Given the description of an element on the screen output the (x, y) to click on. 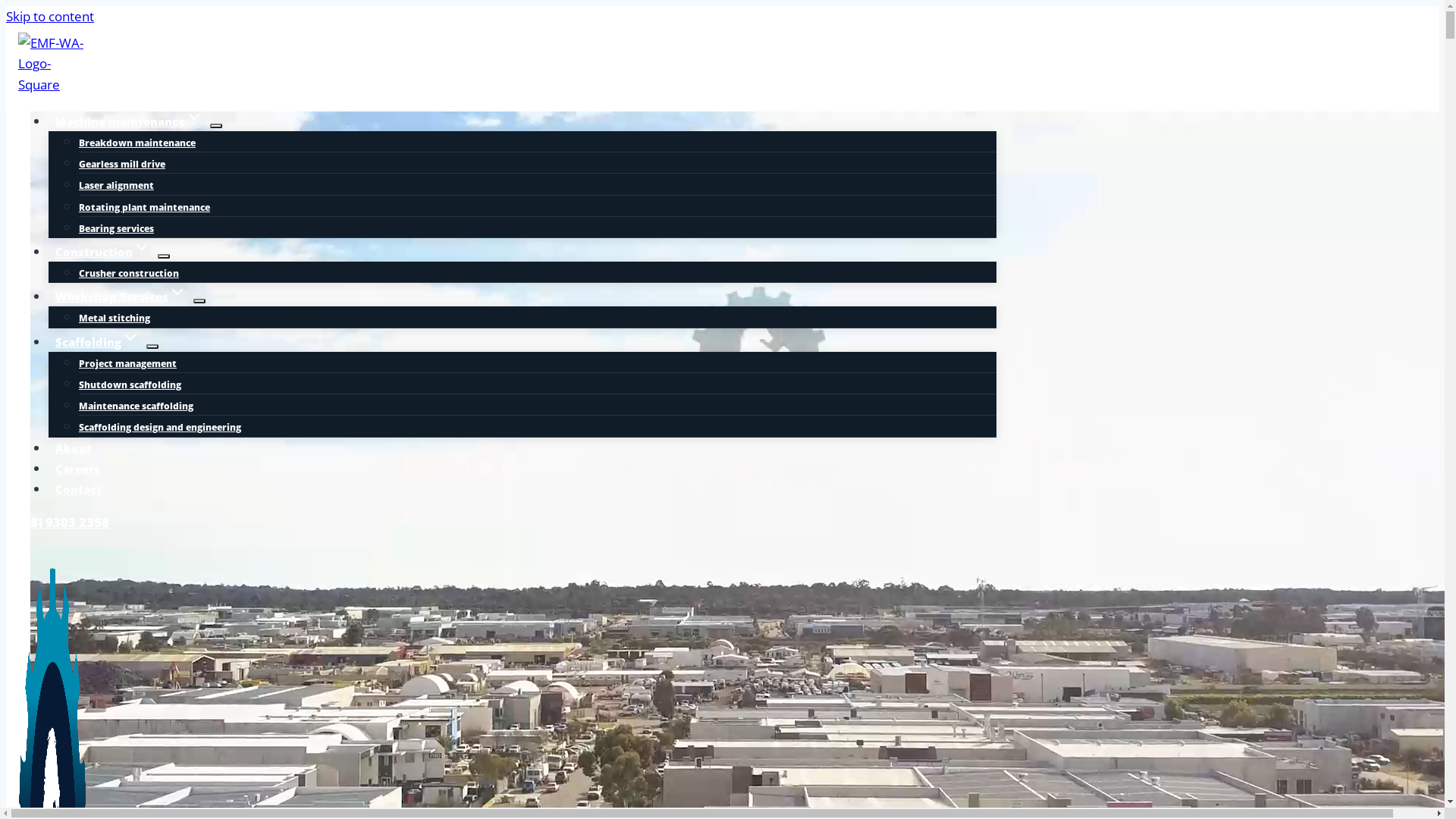
Rotating plant maintenance Element type: text (144, 206)
Workshop ServicesExpand Element type: text (120, 296)
Scaffolding design and engineering Element type: text (159, 426)
Machine maintenanceExpand Element type: text (129, 120)
Crusher construction Element type: text (128, 272)
Project management Element type: text (127, 363)
Bearing services Element type: text (115, 228)
Maintenance scaffolding Element type: text (135, 405)
ScaffoldingExpand Element type: text (97, 341)
ConstructionExpand Element type: text (102, 251)
Contact Element type: text (78, 488)
Breakdown maintenance Element type: text (136, 142)
Shutdown scaffolding Element type: text (129, 384)
Laser alignment Element type: text (115, 184)
About Element type: text (73, 447)
(08) 9303 2358 Element type: text (63, 521)
Careers Element type: text (77, 468)
Metal stitching Element type: text (114, 317)
Gearless mill drive Element type: text (121, 163)
Skip to content Element type: text (50, 16)
